Given the description of an element on the screen output the (x, y) to click on. 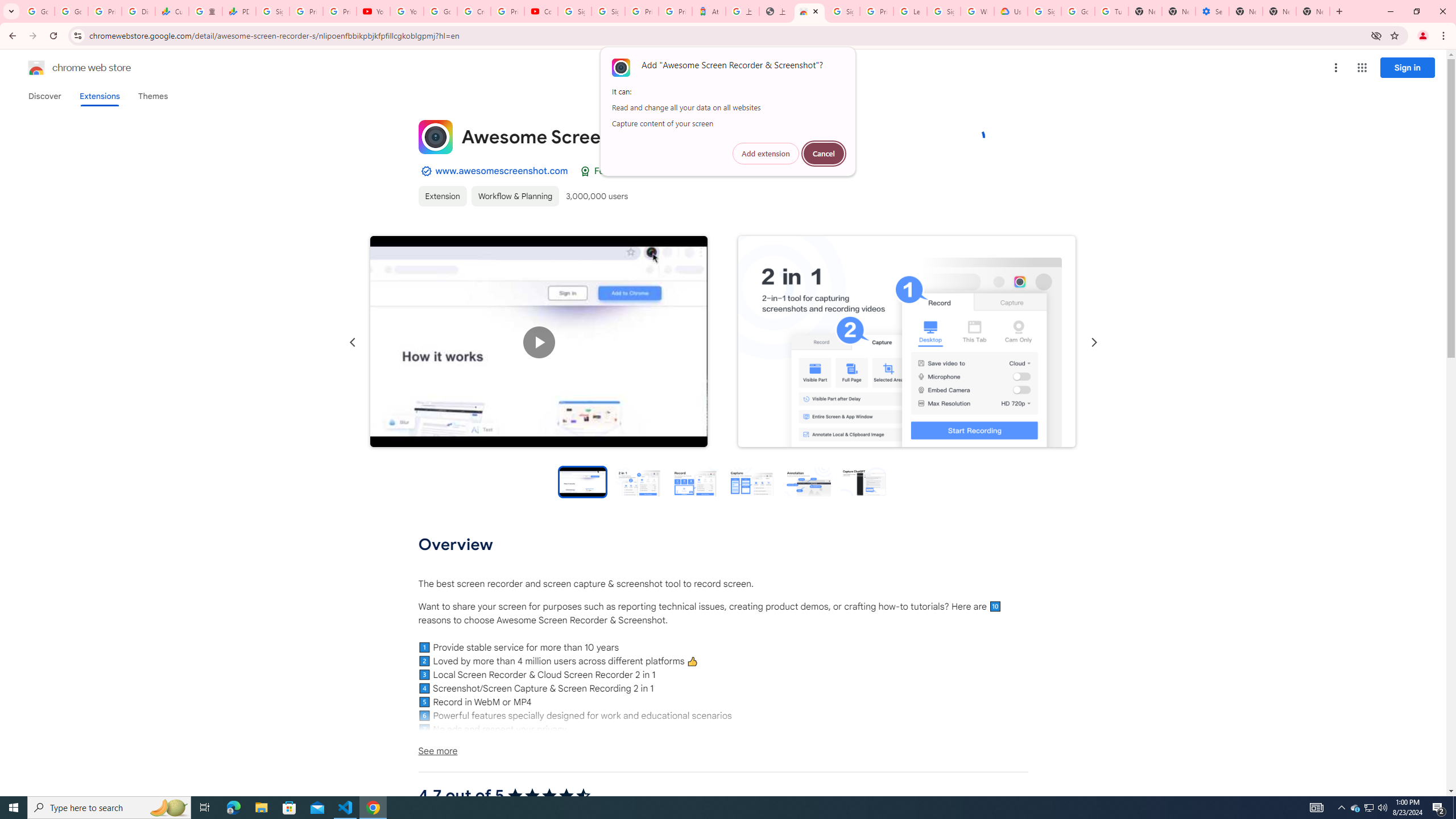
See more (722, 751)
YouTube (406, 11)
Preview slide 4 (751, 481)
Cancel (823, 153)
Show desktop (1454, 807)
Task View (204, 807)
Item media 1 video (538, 342)
Type here to search (108, 807)
Featured Badge (584, 170)
New Tab (1313, 11)
Privacy Checkup (339, 11)
